Given the description of an element on the screen output the (x, y) to click on. 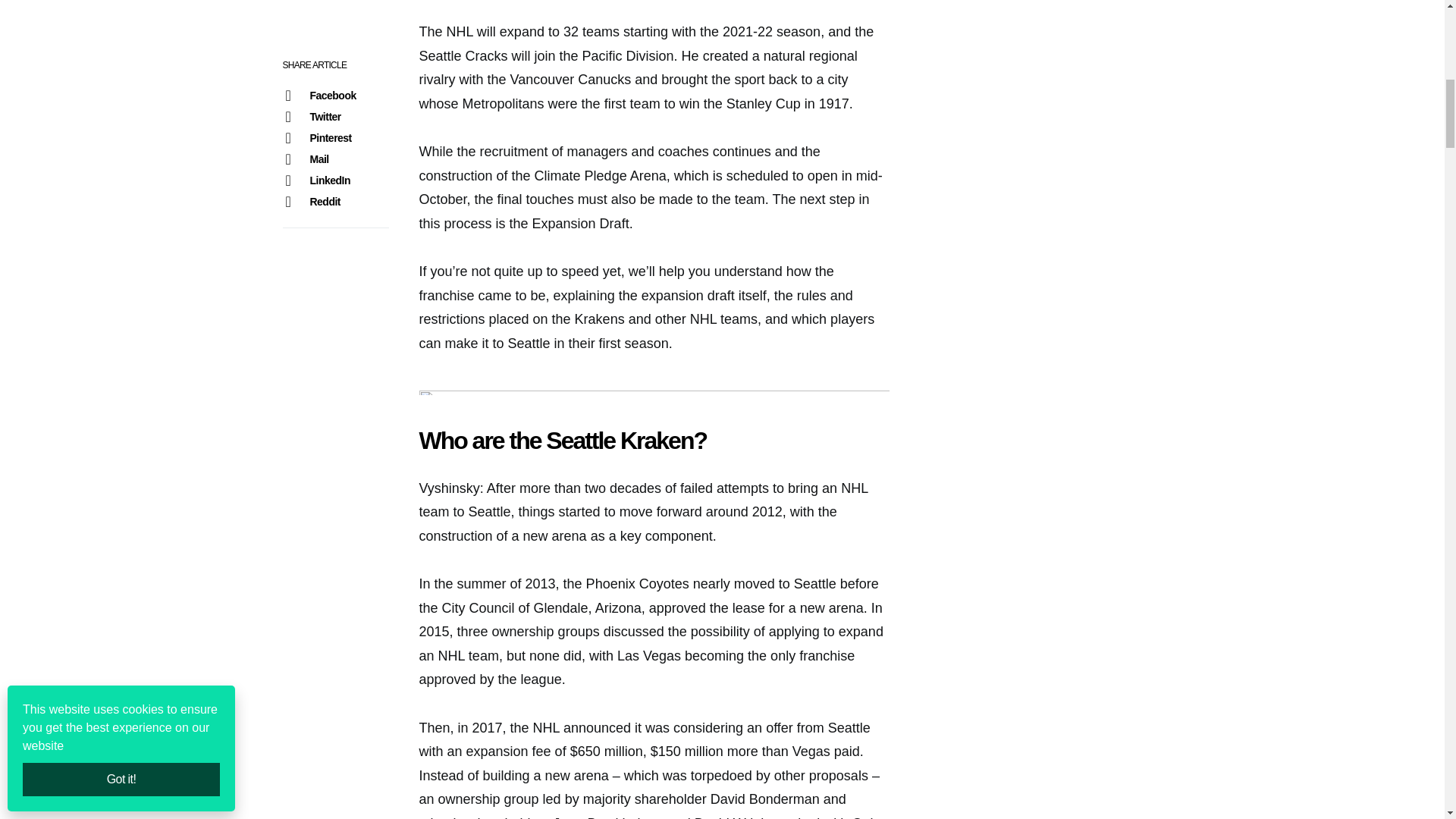
YouTube video player (653, 6)
